Given the description of an element on the screen output the (x, y) to click on. 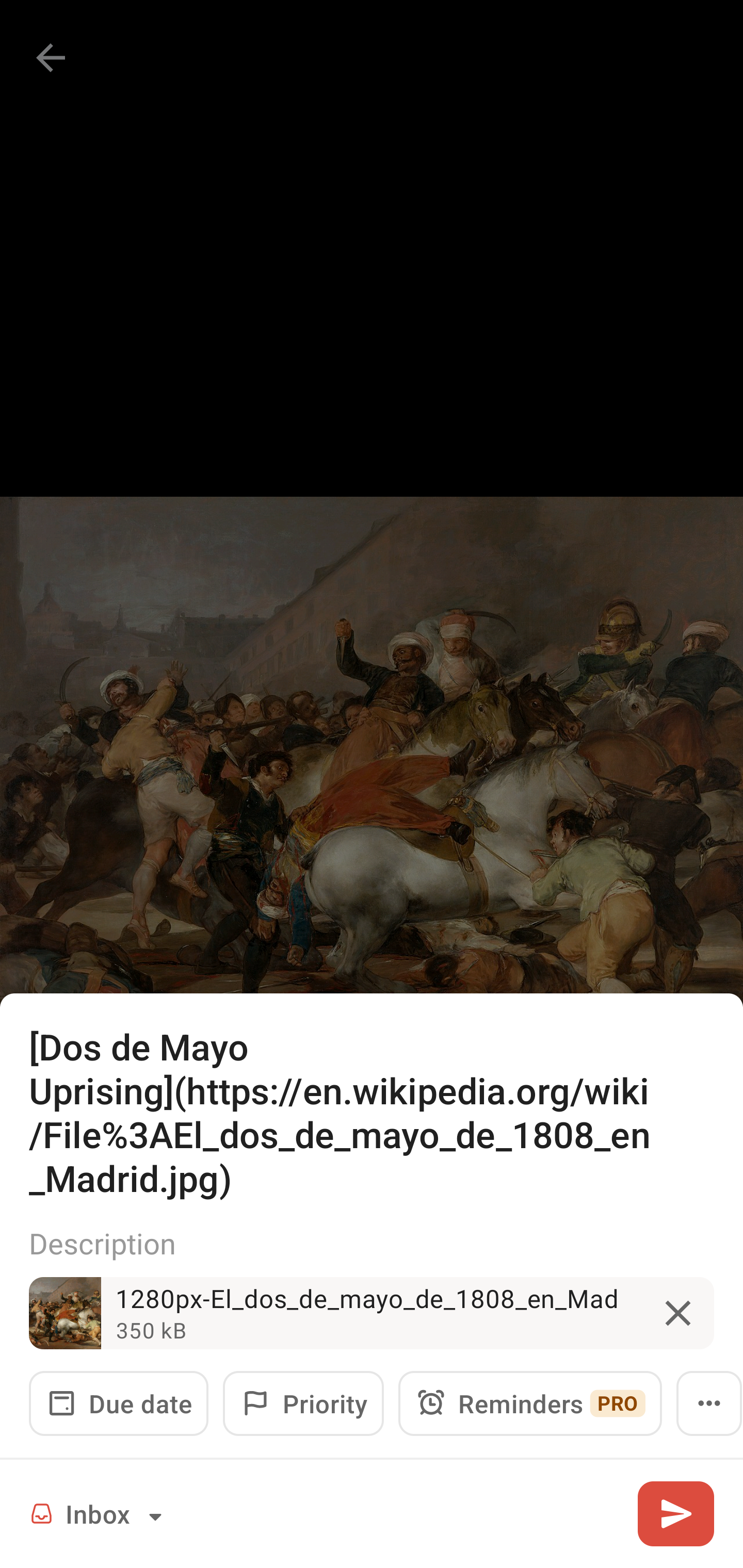
Description (371, 1242)
Remove attachment (677, 1313)
Due date Date (118, 1403)
Priority (303, 1403)
Reminders PRO Reminders (530, 1403)
Open menu (709, 1403)
Inbox Project (99, 1513)
Add (675, 1513)
